Given the description of an element on the screen output the (x, y) to click on. 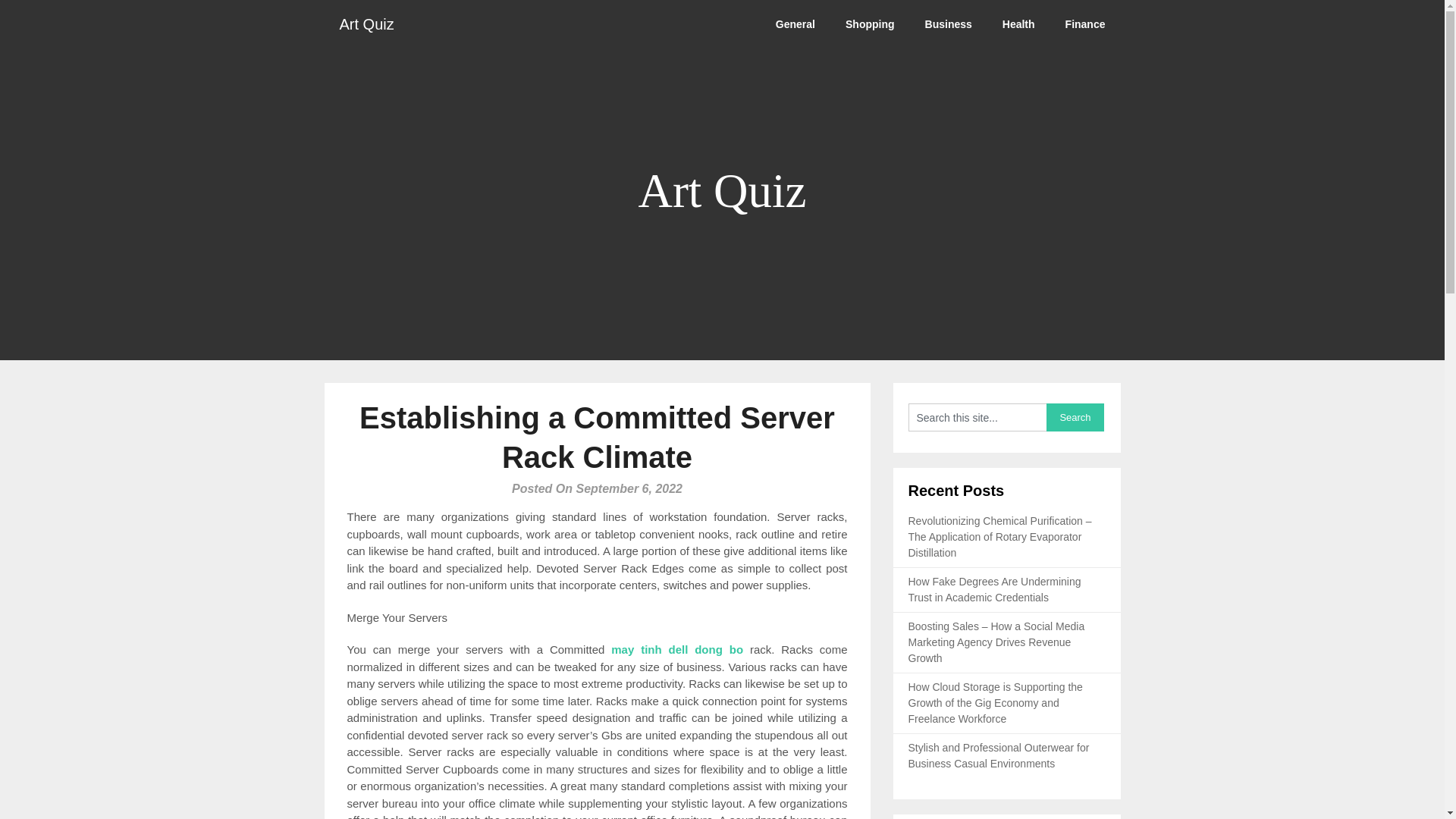
may tinh dell dong bo (676, 649)
Finance (1085, 24)
Search (1075, 417)
Art Quiz (366, 24)
Search (1075, 417)
Business (948, 24)
Health (1018, 24)
Shopping (869, 24)
